Given the description of an element on the screen output the (x, y) to click on. 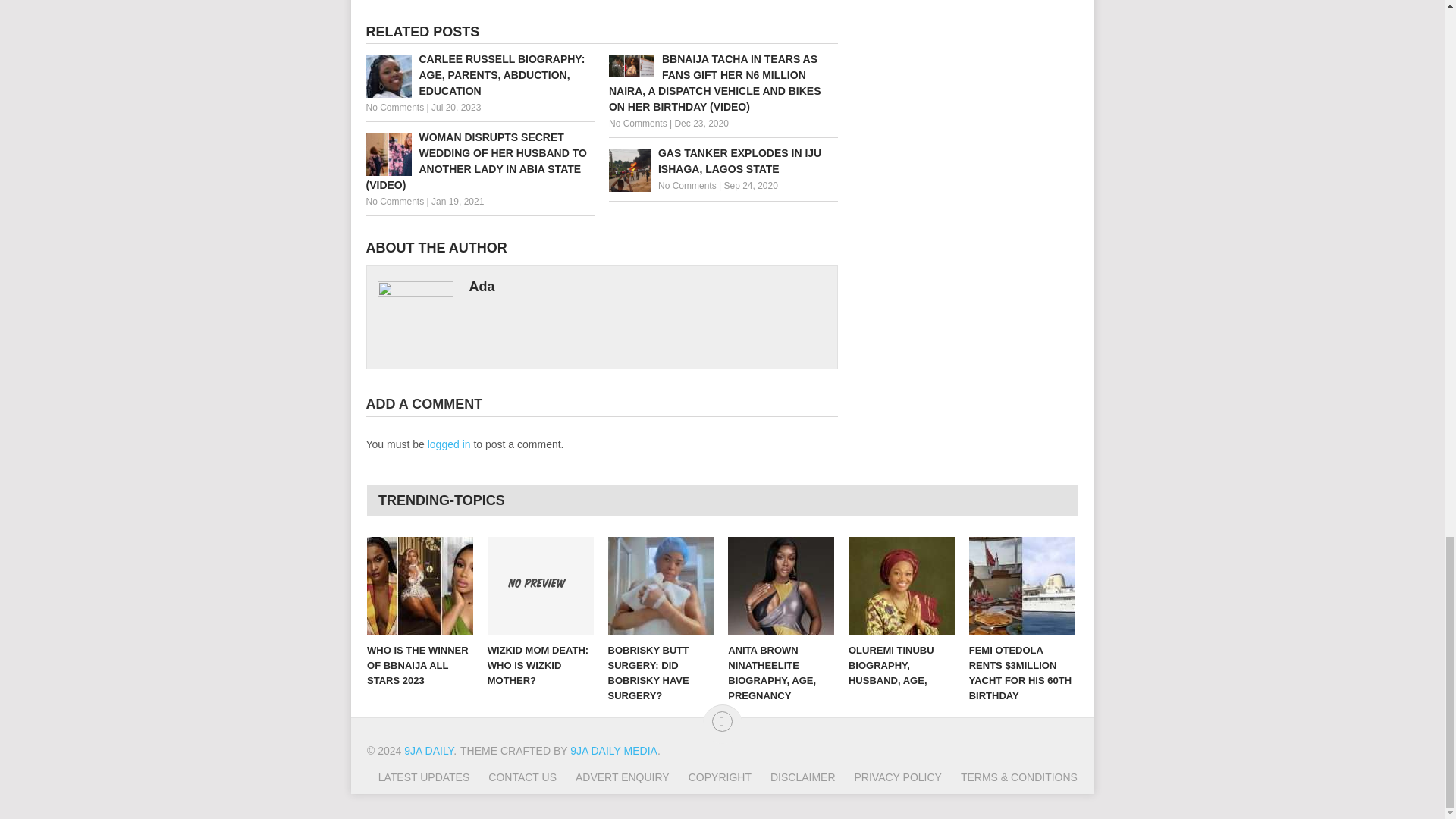
No Comments (637, 122)
Gas tanker explodes in Iju Ishaga, Lagos State (723, 161)
Carlee Russell biography: Age, Parents, Abduction, Education (479, 75)
GAS TANKER EXPLODES IN IJU ISHAGA, LAGOS STATE (723, 161)
No Comments (394, 107)
logged in (449, 444)
CARLEE RUSSELL BIOGRAPHY: AGE, PARENTS, ABDUCTION, EDUCATION (479, 75)
No Comments (394, 201)
No Comments (687, 185)
